Given the description of an element on the screen output the (x, y) to click on. 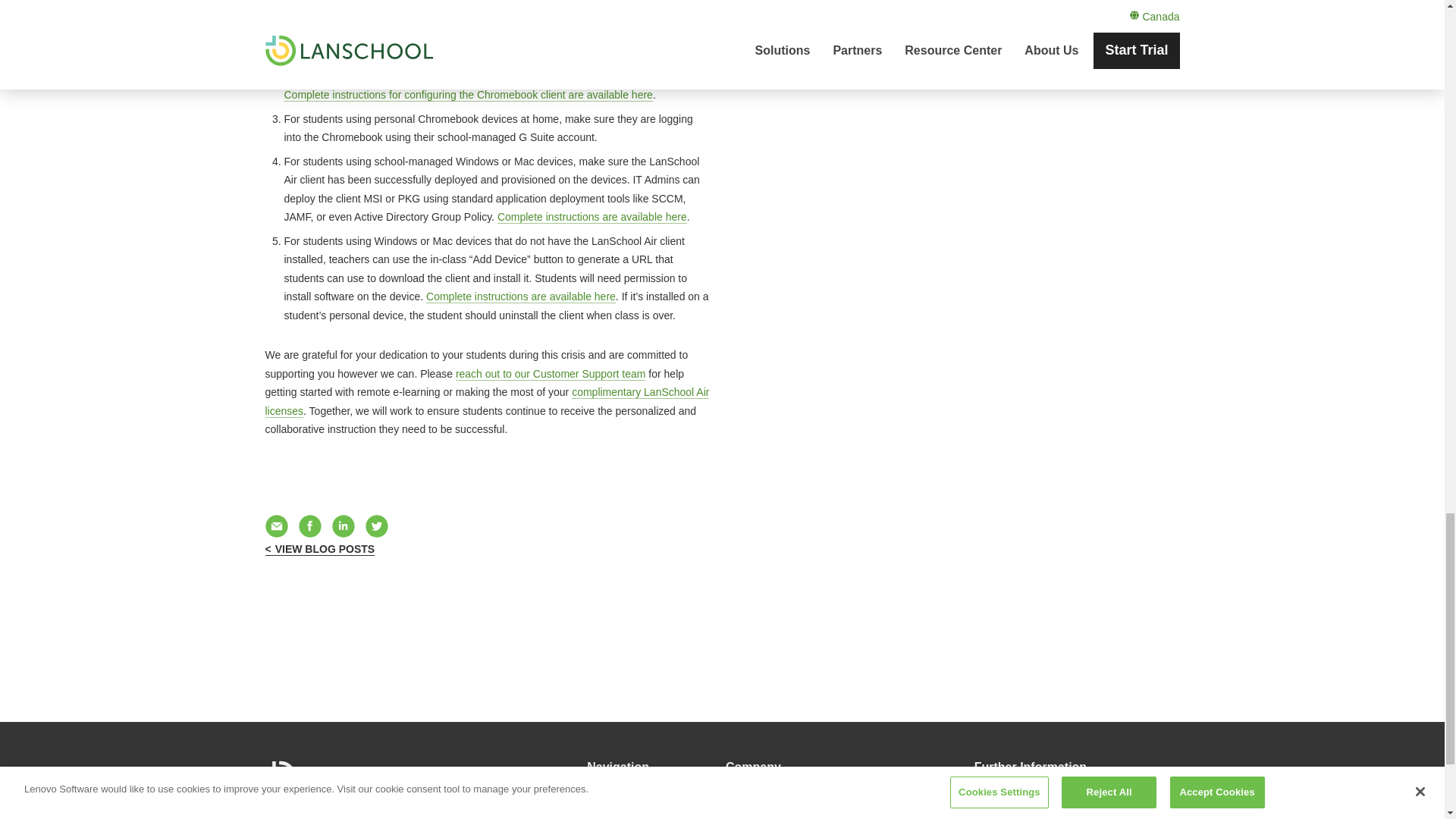
complimentary LanSchool Air licenses (487, 401)
Complete instructions are available here (592, 216)
reach out to our Customer Support team (550, 373)
Complete instructions are available here (520, 296)
Solutions (611, 799)
homepage (348, 776)
VIEW BLOG POSTS (319, 549)
